Given the description of an element on the screen output the (x, y) to click on. 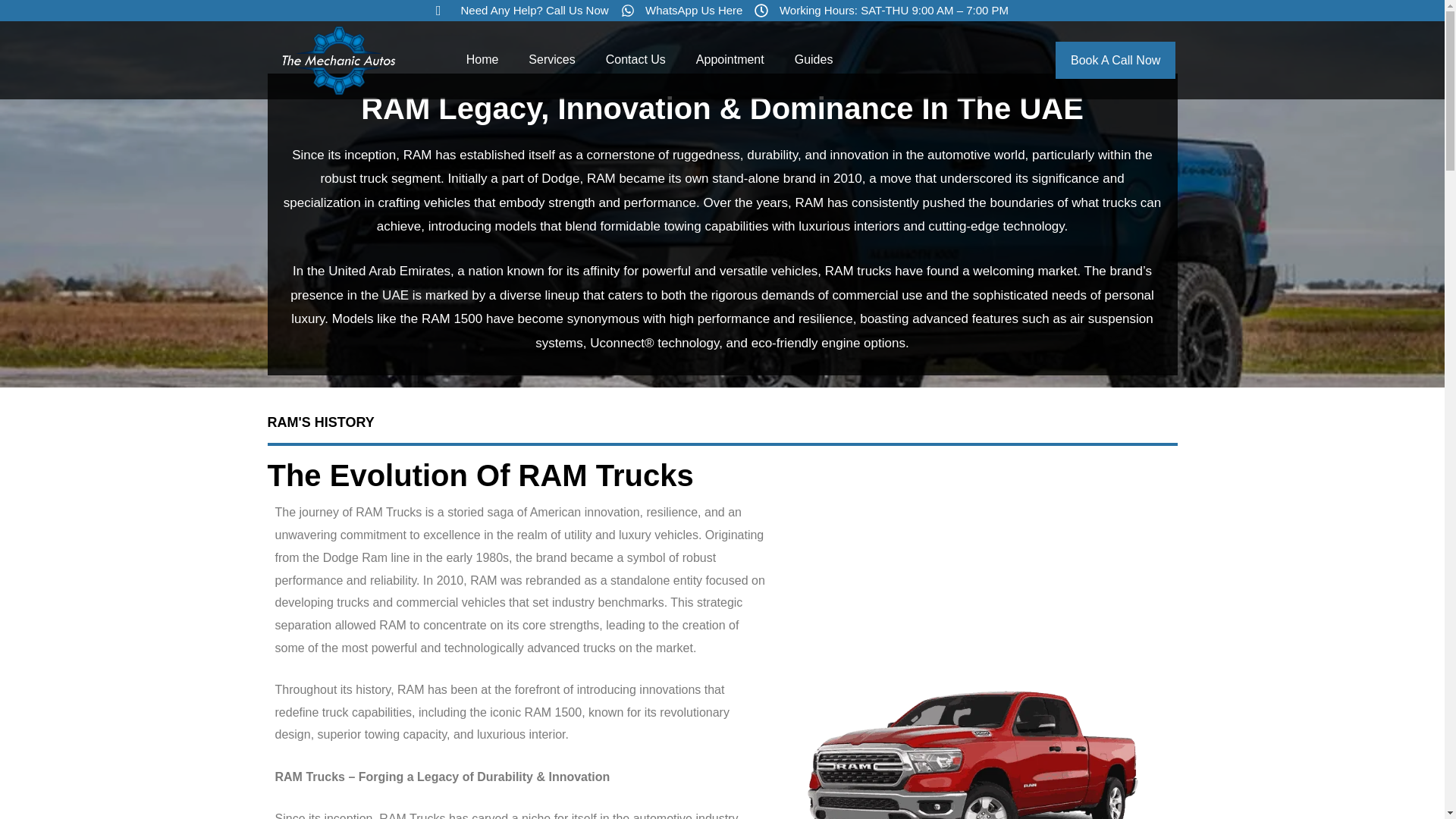
Need Any Help? Call Us Now (521, 10)
Contact Us (636, 59)
Services (551, 59)
Appointment (729, 59)
WhatsApp Us Here (681, 10)
Home (482, 59)
Guides (813, 59)
